Given the description of an element on the screen output the (x, y) to click on. 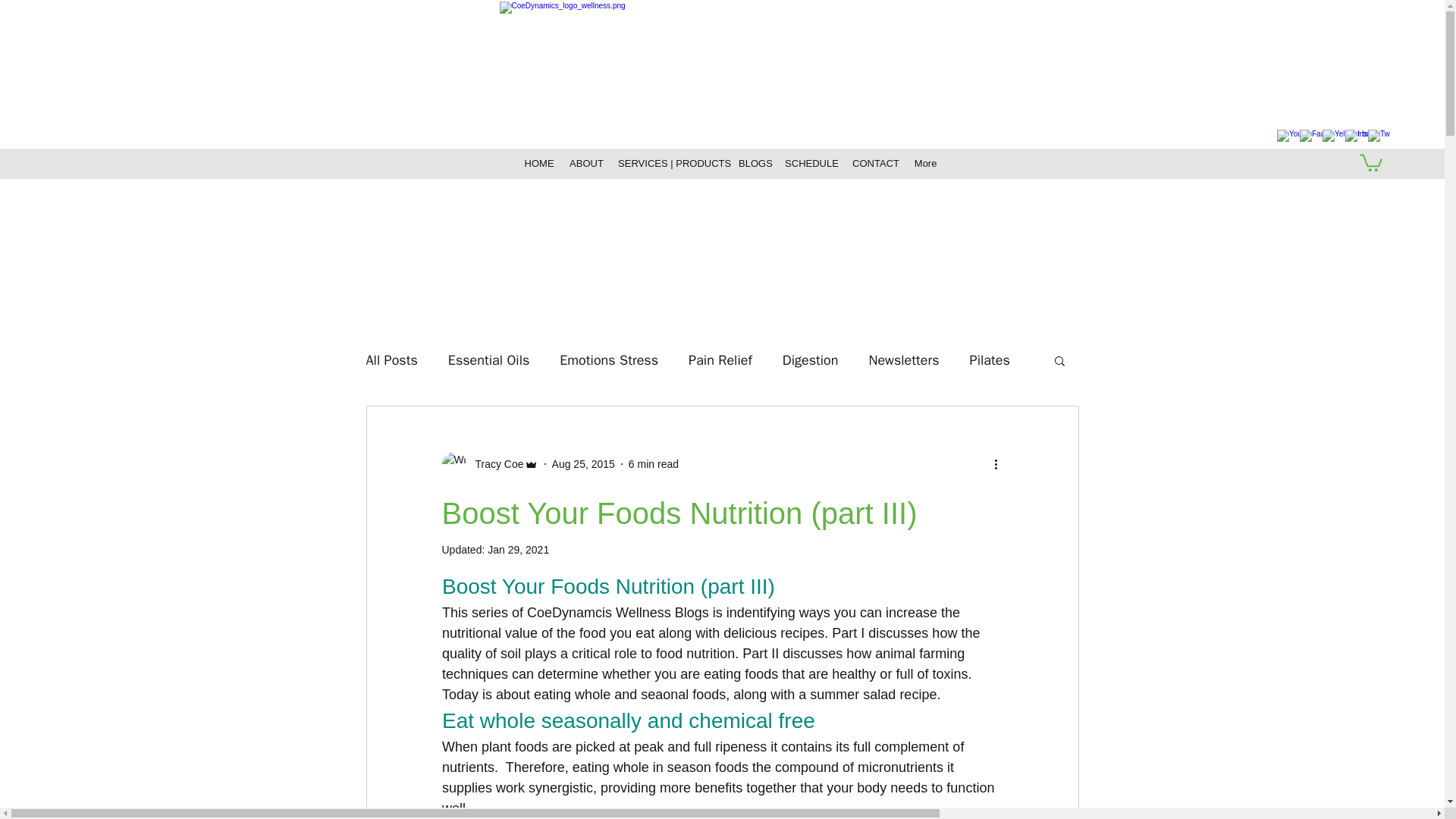
Emotions Stress (608, 360)
ABOUT (586, 163)
Jan 29, 2021 (517, 549)
Newsletters (904, 360)
BLOGS (753, 163)
Essential Oils (488, 360)
Pain Relief (720, 360)
SCHEDULE (810, 163)
HOME (539, 163)
Tracy Coe (489, 463)
All Posts (390, 360)
CONTACT (874, 163)
Digestion (810, 360)
Aug 25, 2015 (582, 463)
Pilates (989, 360)
